Given the description of an element on the screen output the (x, y) to click on. 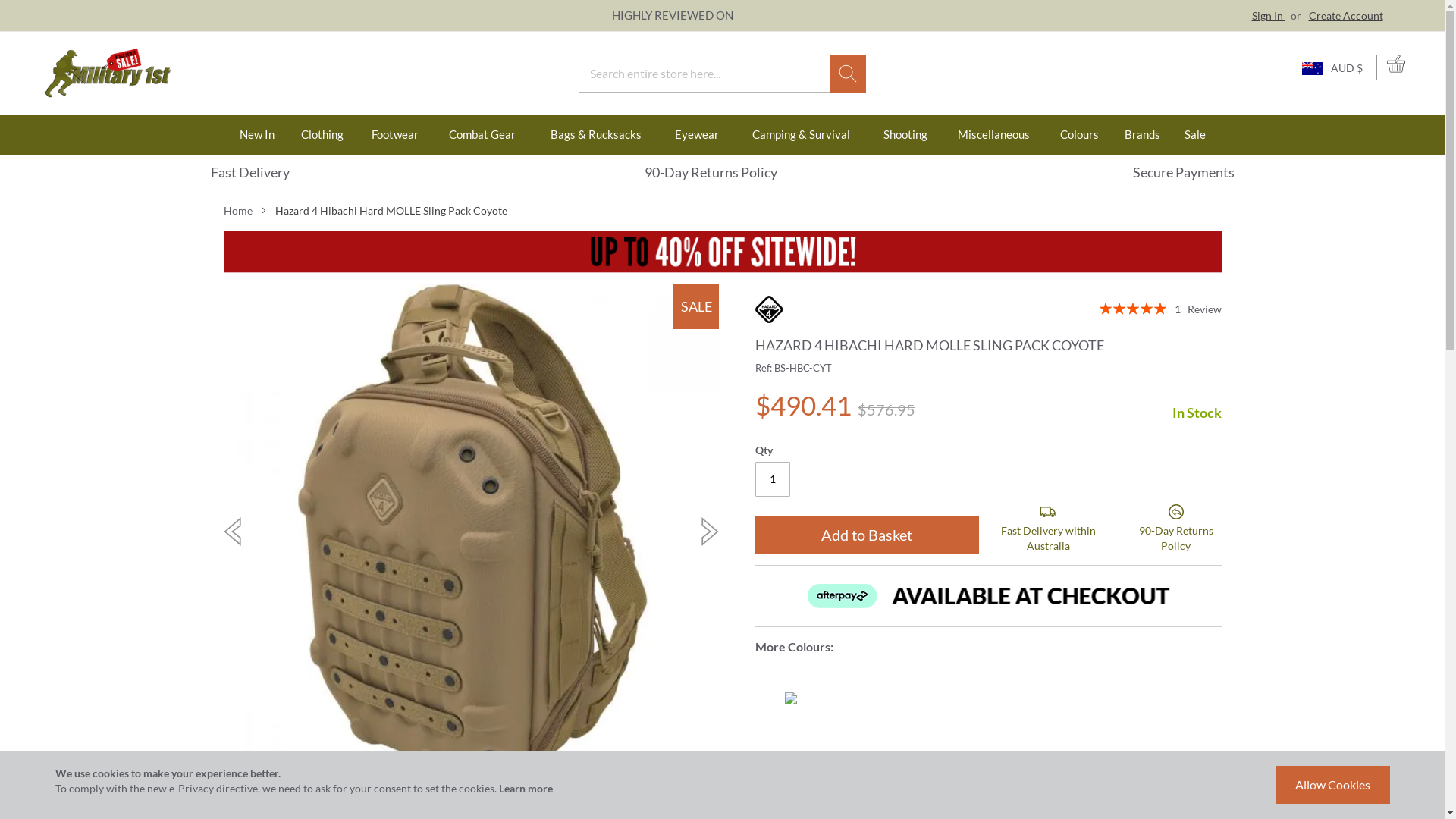
Shooting Element type: text (904, 134)
Fast Delivery Element type: text (249, 171)
1   Review Element type: text (1196, 308)
Share via Pinterest Element type: hover (1183, 771)
Allow Cookies Element type: text (1332, 784)
Hazard 4 Hibachi Hard MOLLE Sling Pack Black Element type: hover (790, 698)
Search Element type: hover (847, 73)
Bags & Rucksacks Element type: text (596, 134)
Add to Wish List Element type: text (805, 772)
Colours Element type: text (1078, 134)
93% Element type: hover (1132, 308)
Sale Element type: text (1195, 134)
Footwear Element type: text (395, 134)
Brands Element type: text (1142, 134)
Miscellaneous Element type: text (993, 134)
Qty Element type: hover (772, 478)
90-Day Returns Policy Element type: text (710, 171)
Black Friday Sale! Up to 40% off sitewide! Element type: hover (721, 255)
Military 1st Logo Element type: hover (106, 73)
Clothing Element type: text (322, 134)
My Basket Element type: text (1395, 67)
Add to Basket Element type: text (867, 534)
Hazard 4 Hibachi Hard MOLLE Sling Pack Black Element type: hover (790, 698)
New In Element type: text (257, 134)
Home Element type: text (236, 209)
Combat Gear Element type: text (482, 134)
Create Account Element type: text (1345, 15)
Share via Twitter Element type: hover (1150, 771)
Camping & Survival Element type: text (800, 134)
Share via Facebook Element type: hover (1215, 771)
Learn more Element type: text (525, 787)
Secure Payments Element type: text (1183, 171)
Eyewear Element type: text (695, 134)
Black Friday Sale! Up to 40% off sitewide! Element type: hover (721, 275)
Sign In Element type: text (1267, 15)
